Given the description of an element on the screen output the (x, y) to click on. 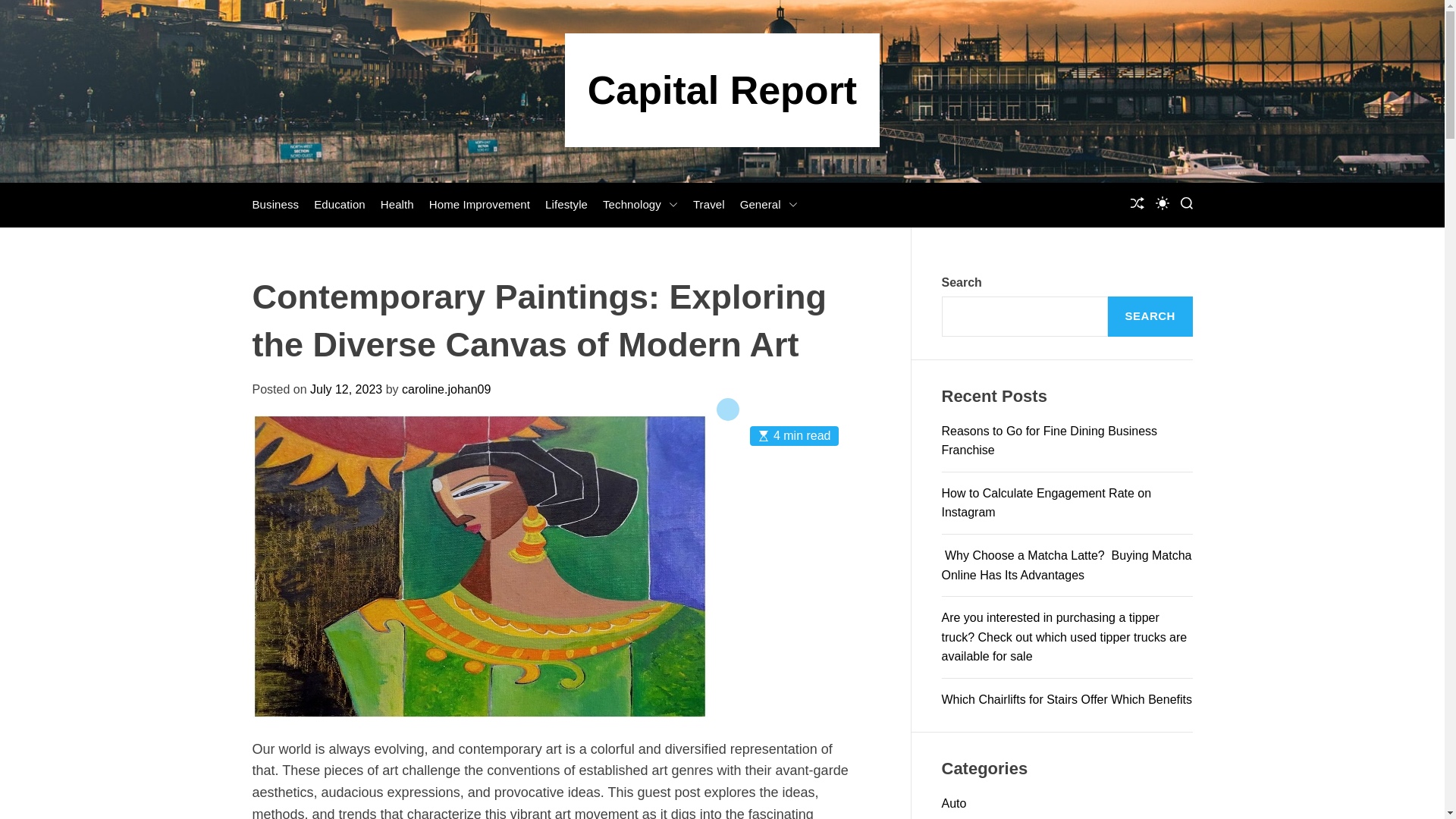
July 12, 2023 (345, 389)
SWITCH COLOR MODE (1162, 202)
General (768, 205)
Lifestyle (566, 204)
caroline.johan09 (445, 389)
Education (339, 204)
Capital Report (722, 89)
Travel (709, 204)
Business (274, 204)
Technology (640, 205)
